Given the description of an element on the screen output the (x, y) to click on. 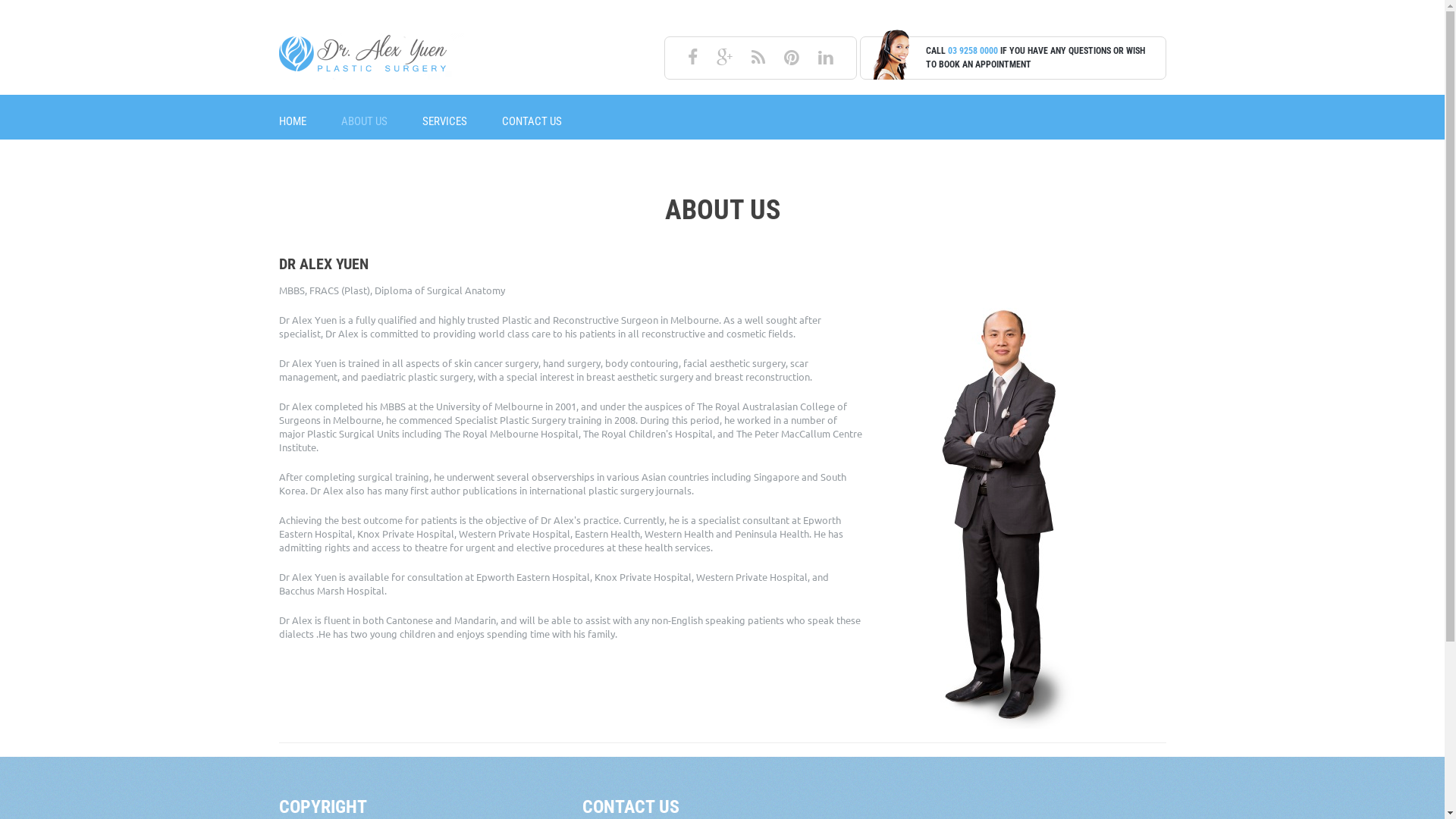
SERVICES Element type: text (443, 121)
ABOUT US Element type: text (364, 121)
CONTACT US Element type: text (531, 121)
HOME Element type: text (292, 121)
